Given the description of an element on the screen output the (x, y) to click on. 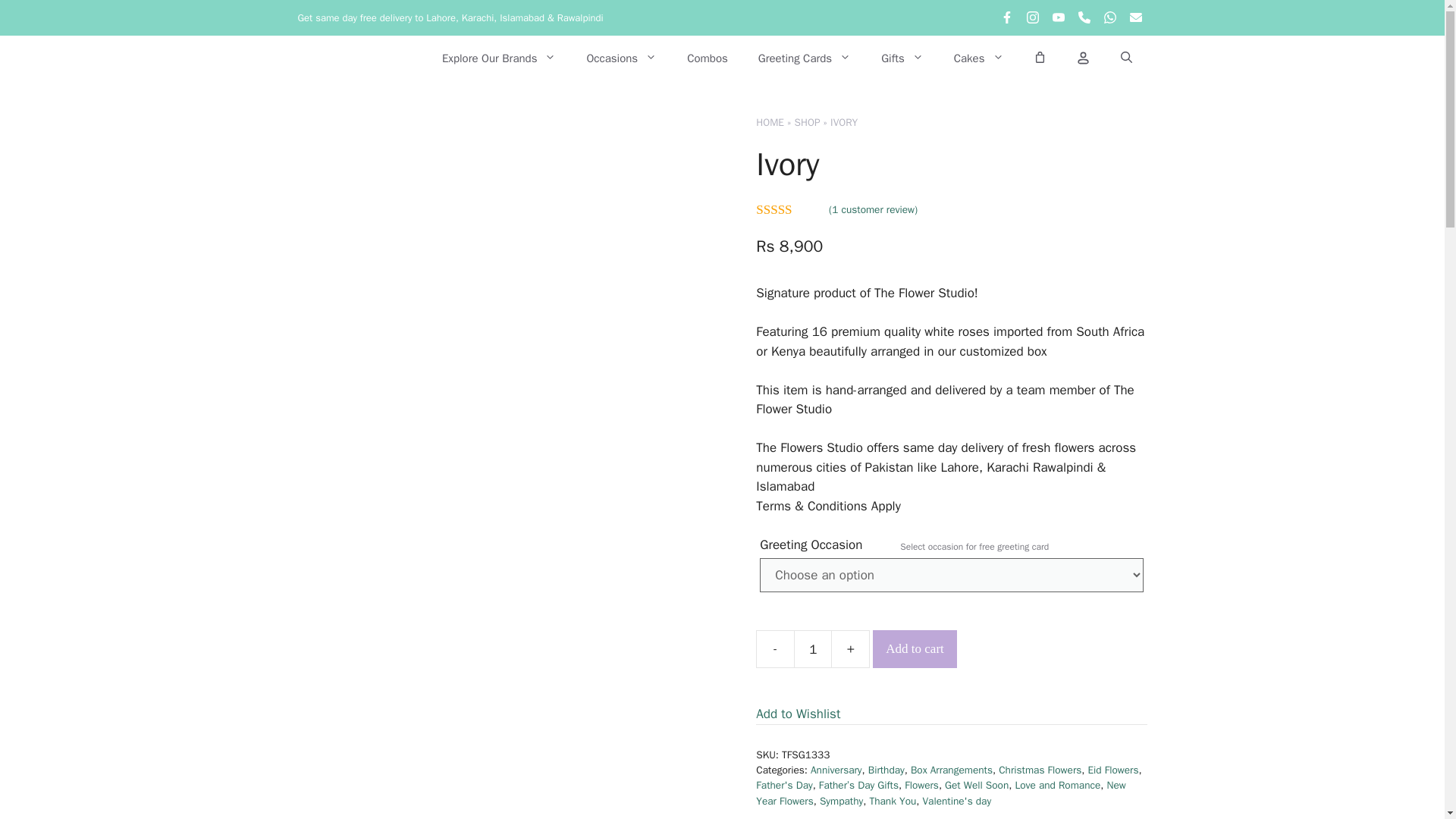
Combos (706, 57)
whatsapp (1109, 19)
facebook (1007, 19)
Rated 5.00 out of 5 (790, 209)
Occasions (620, 57)
View your account (1082, 57)
View your shopping cart (1040, 57)
phone (1084, 19)
1 (812, 648)
instagram (1032, 19)
Explore Our Brands (499, 57)
youtube (1058, 19)
email (1135, 19)
Greeting Cards (804, 57)
